Given the description of an element on the screen output the (x, y) to click on. 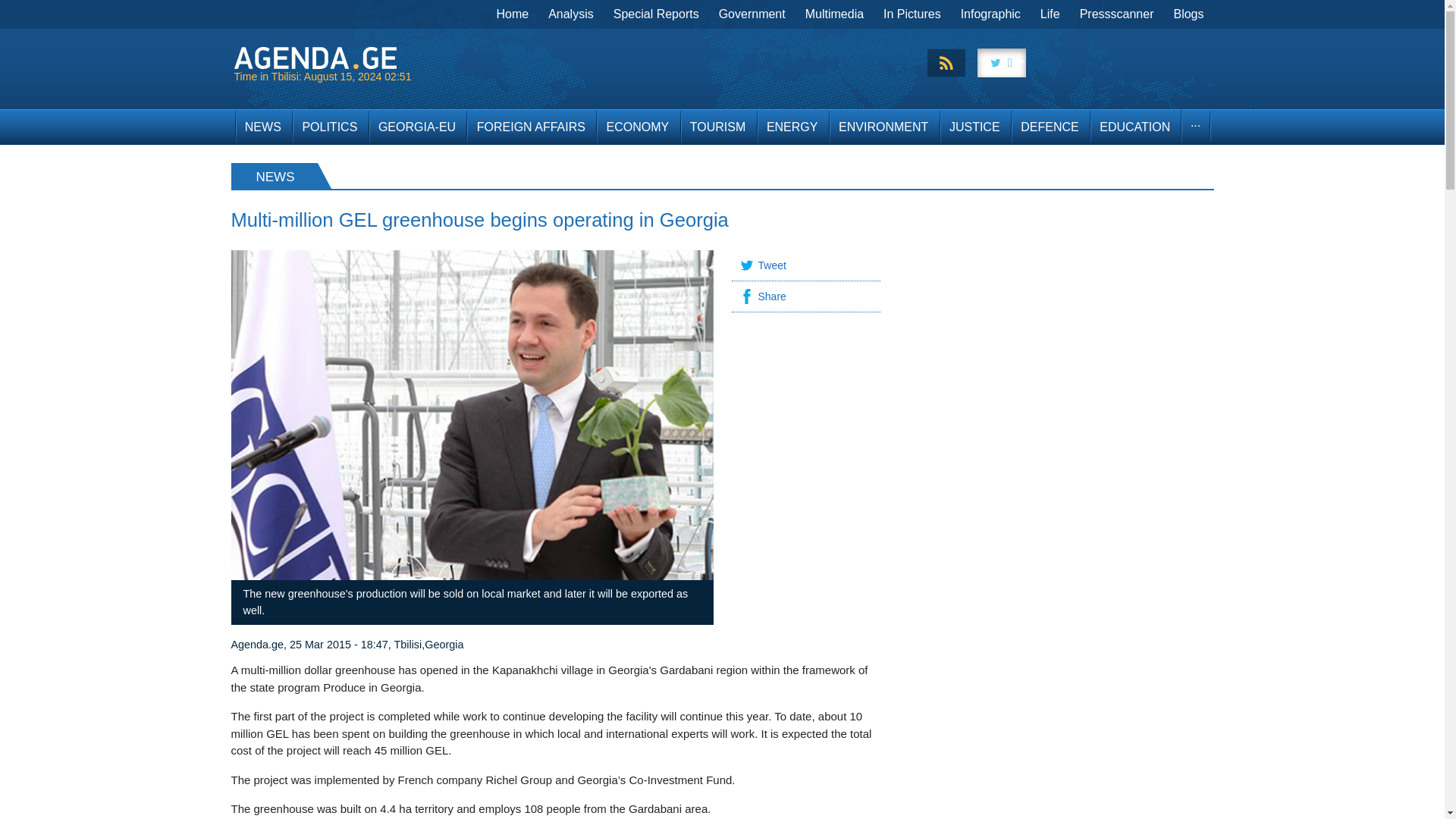
In Pictures (911, 14)
Pressscanner (1116, 14)
Multimedia (833, 14)
Government (751, 14)
NEWS (262, 126)
Analysis (571, 14)
Infographic (990, 14)
Blogs (1187, 14)
Life (1050, 14)
Home (512, 14)
